Given the description of an element on the screen output the (x, y) to click on. 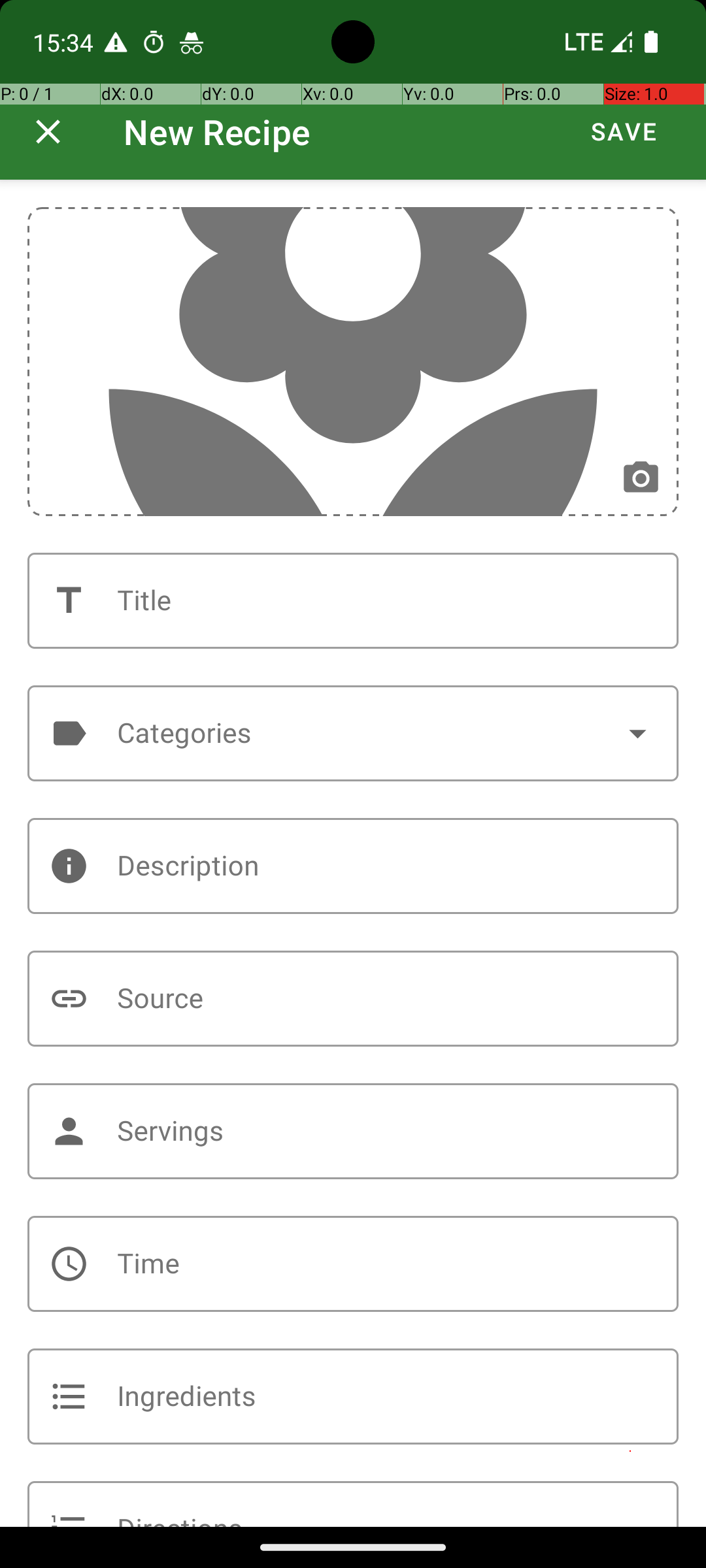
Title Element type: android.widget.EditText (352, 600)
Source Element type: android.widget.EditText (352, 998)
